Given the description of an element on the screen output the (x, y) to click on. 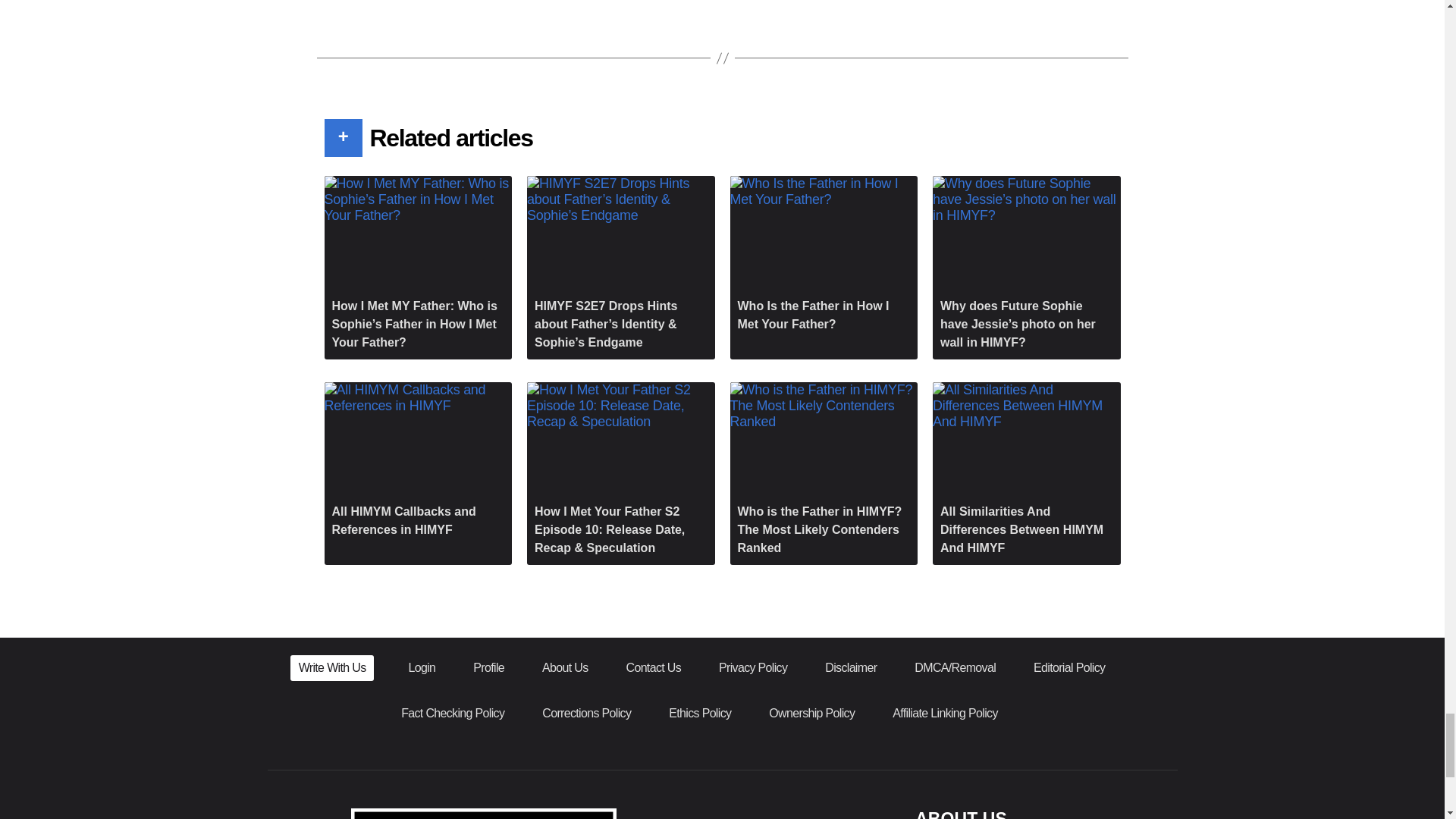
All HIMYM Callbacks and References in HIMYF (418, 464)
All Similarities And Differences Between HIMYM And HIMYF (1027, 473)
Who Is the Father in How I Met Your Father? (823, 258)
